Given the description of an element on the screen output the (x, y) to click on. 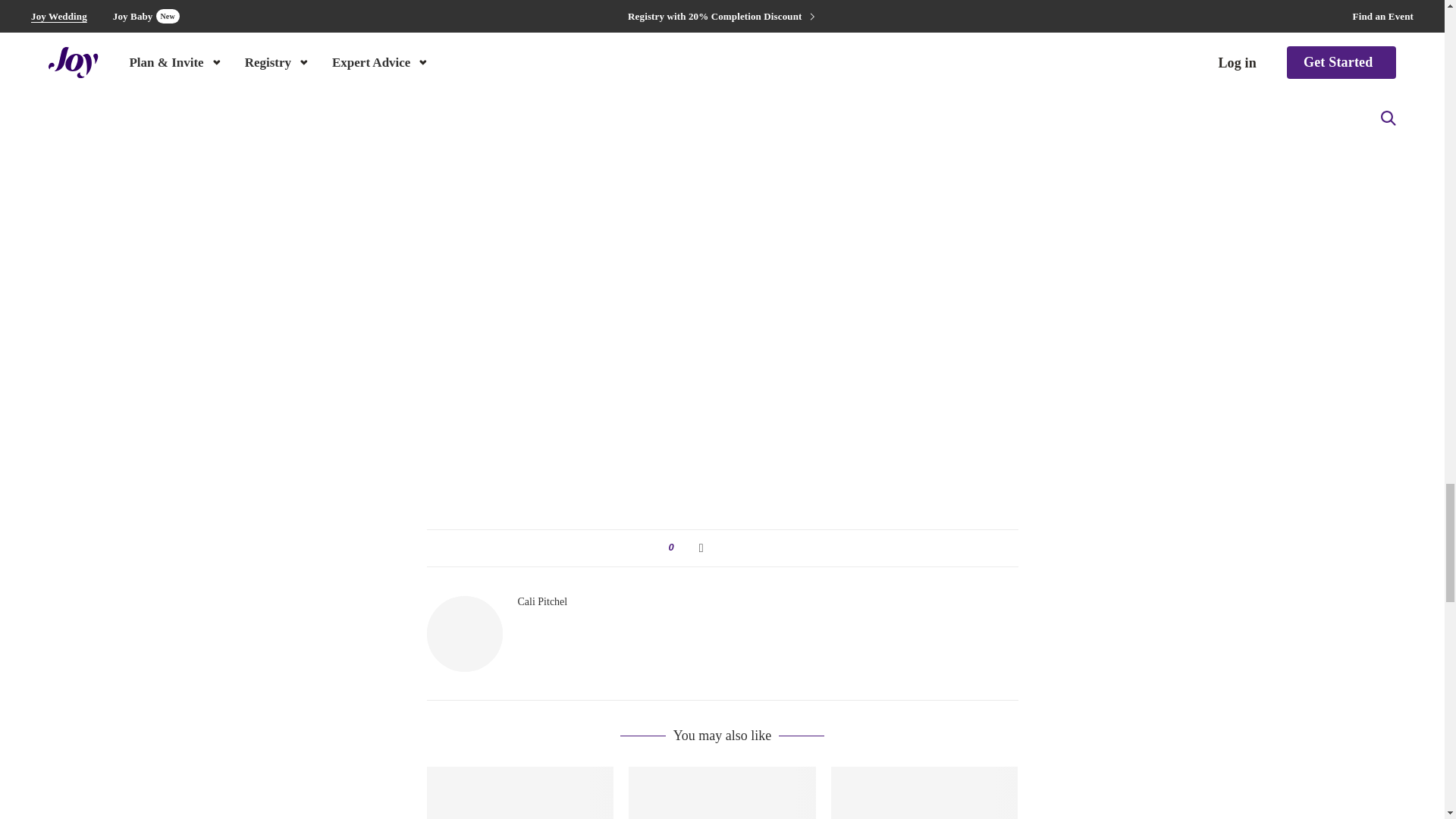
Author Cali Pitchel (541, 602)
Joy Proposal Story: Pooja and Ajinkya (519, 792)
